Given the description of an element on the screen output the (x, y) to click on. 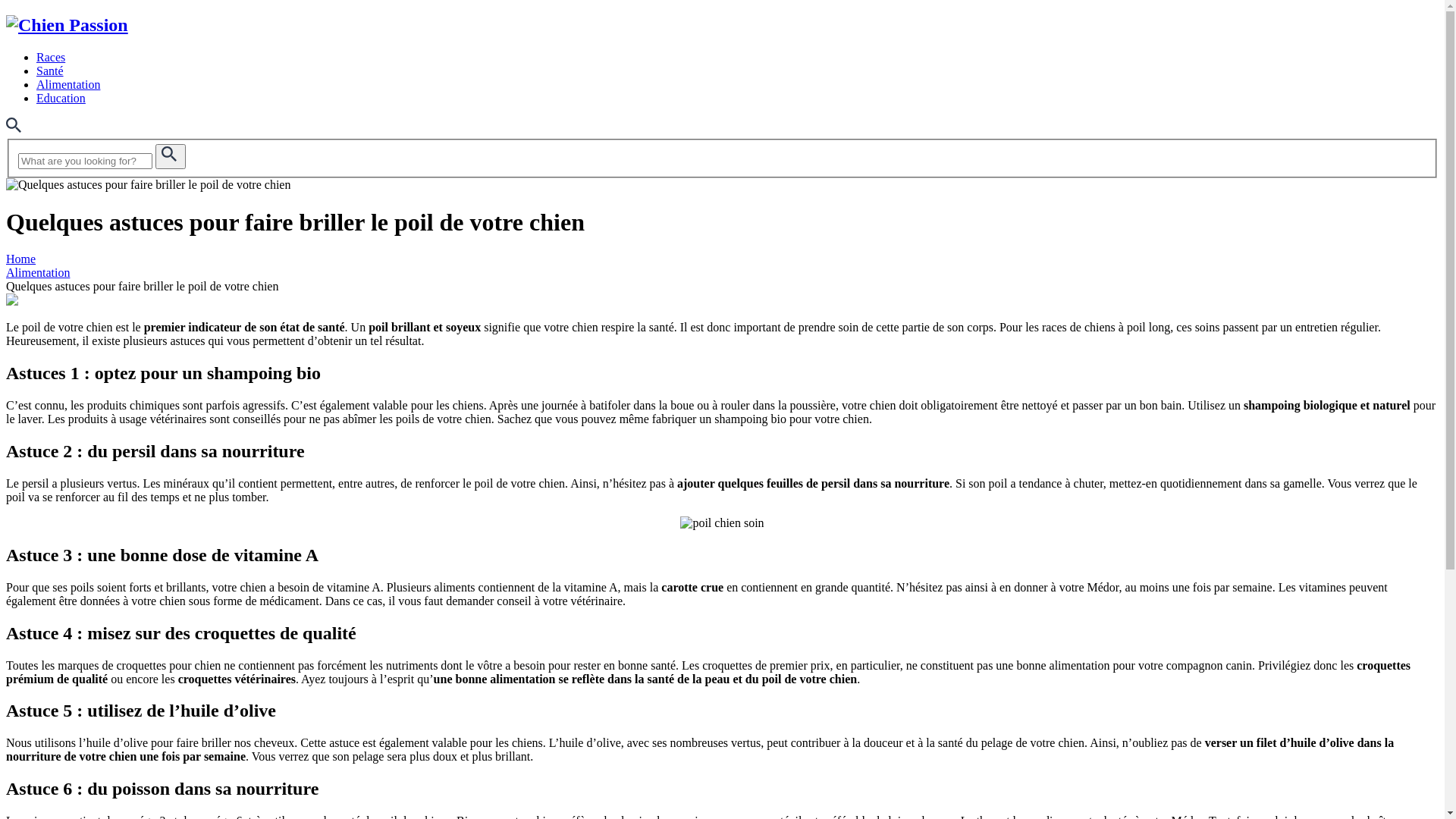
Races Element type: text (50, 56)
Home Element type: text (20, 258)
Education Element type: text (60, 97)
Quelques astuces pour faire briller le poil de votre chien Element type: hover (148, 184)
Alimentation Element type: text (68, 84)
Alimentation Element type: text (37, 272)
